Given the description of an element on the screen output the (x, y) to click on. 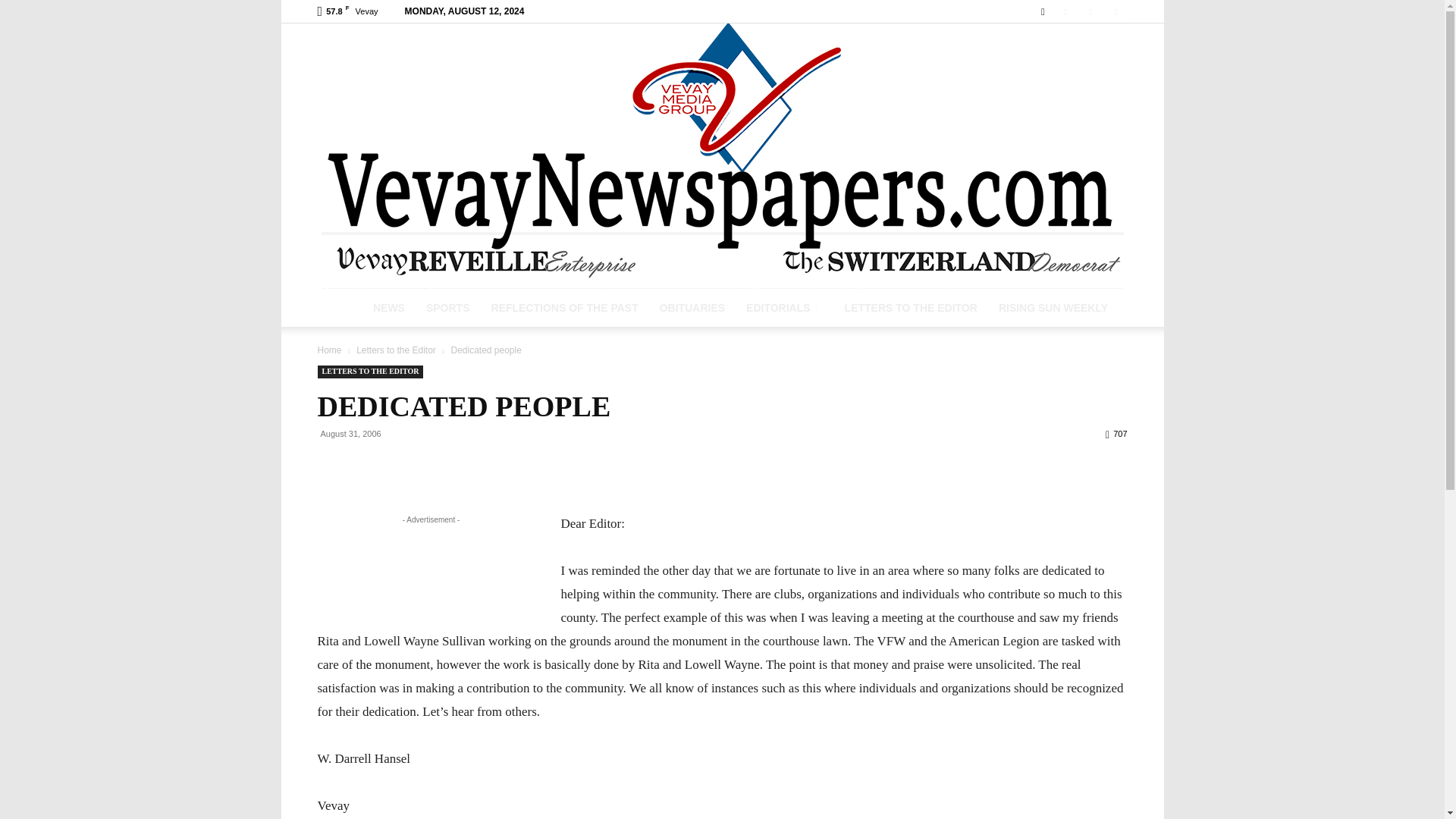
EDITORIALS (784, 307)
Home (328, 349)
RISING SUN WEEKLY (1053, 307)
Letters to the Editor (395, 349)
REFLECTIONS OF THE PAST (564, 307)
SPORTS (447, 307)
OBITUARIES (692, 307)
NEWS (388, 307)
